Given the description of an element on the screen output the (x, y) to click on. 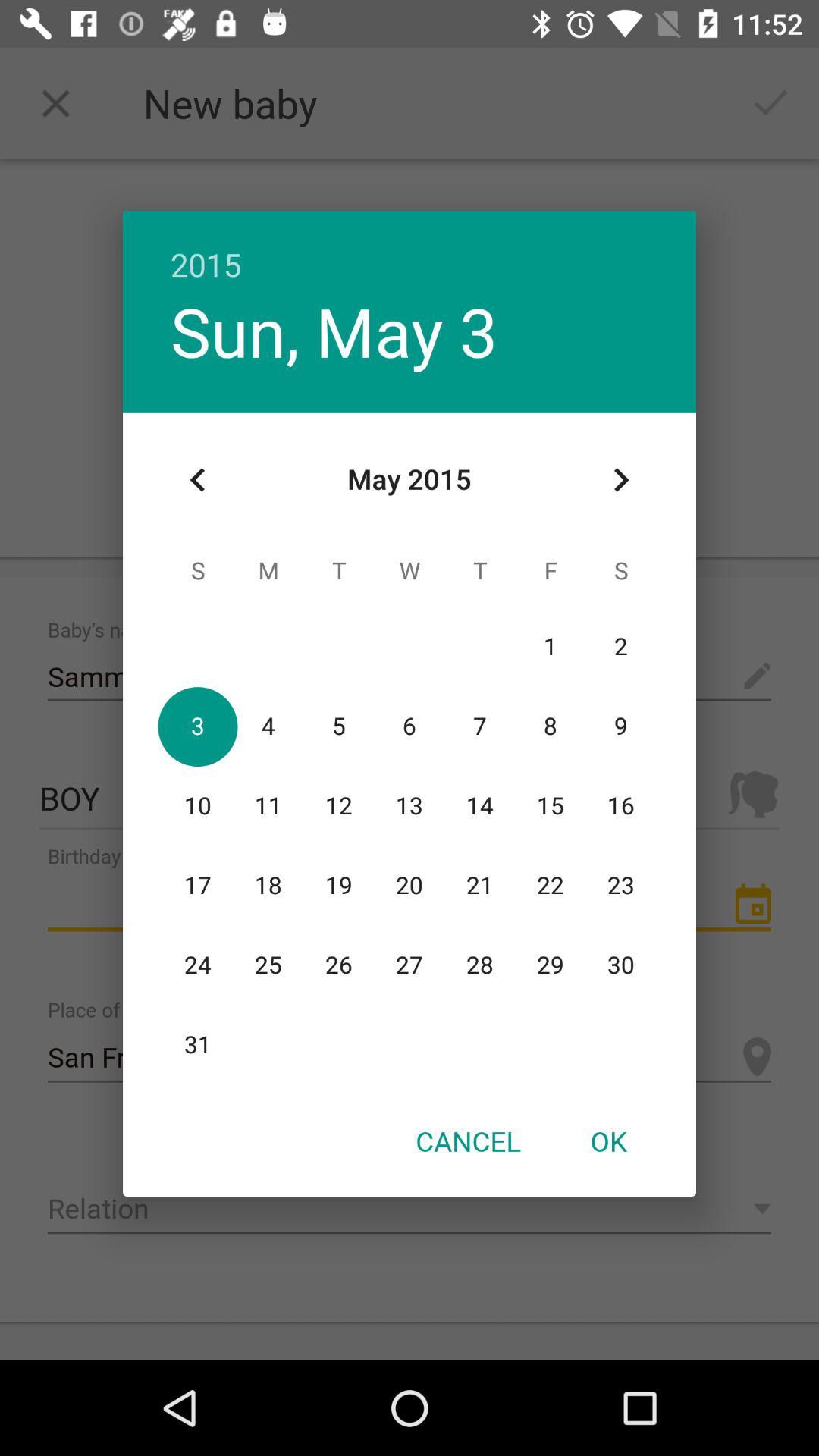
choose the cancel icon (467, 1140)
